Given the description of an element on the screen output the (x, y) to click on. 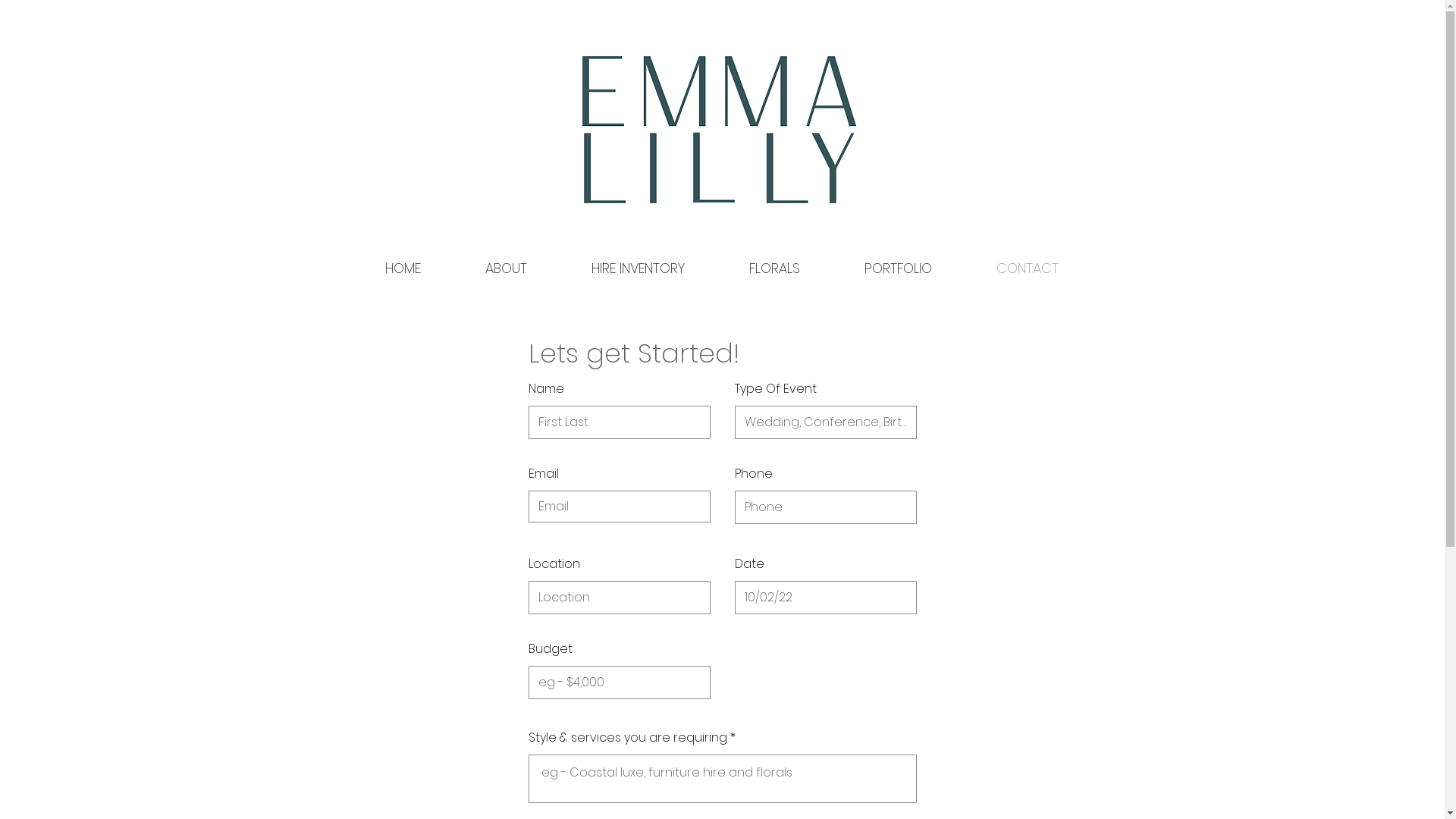
1.png Element type: hover (716, 126)
ABOUT Element type: text (506, 268)
HIRE INVENTORY Element type: text (638, 268)
HOME Element type: text (403, 268)
FLORALS Element type: text (774, 268)
CONTACT Element type: text (1027, 268)
PORTFOLIO Element type: text (898, 268)
